Given the description of an element on the screen output the (x, y) to click on. 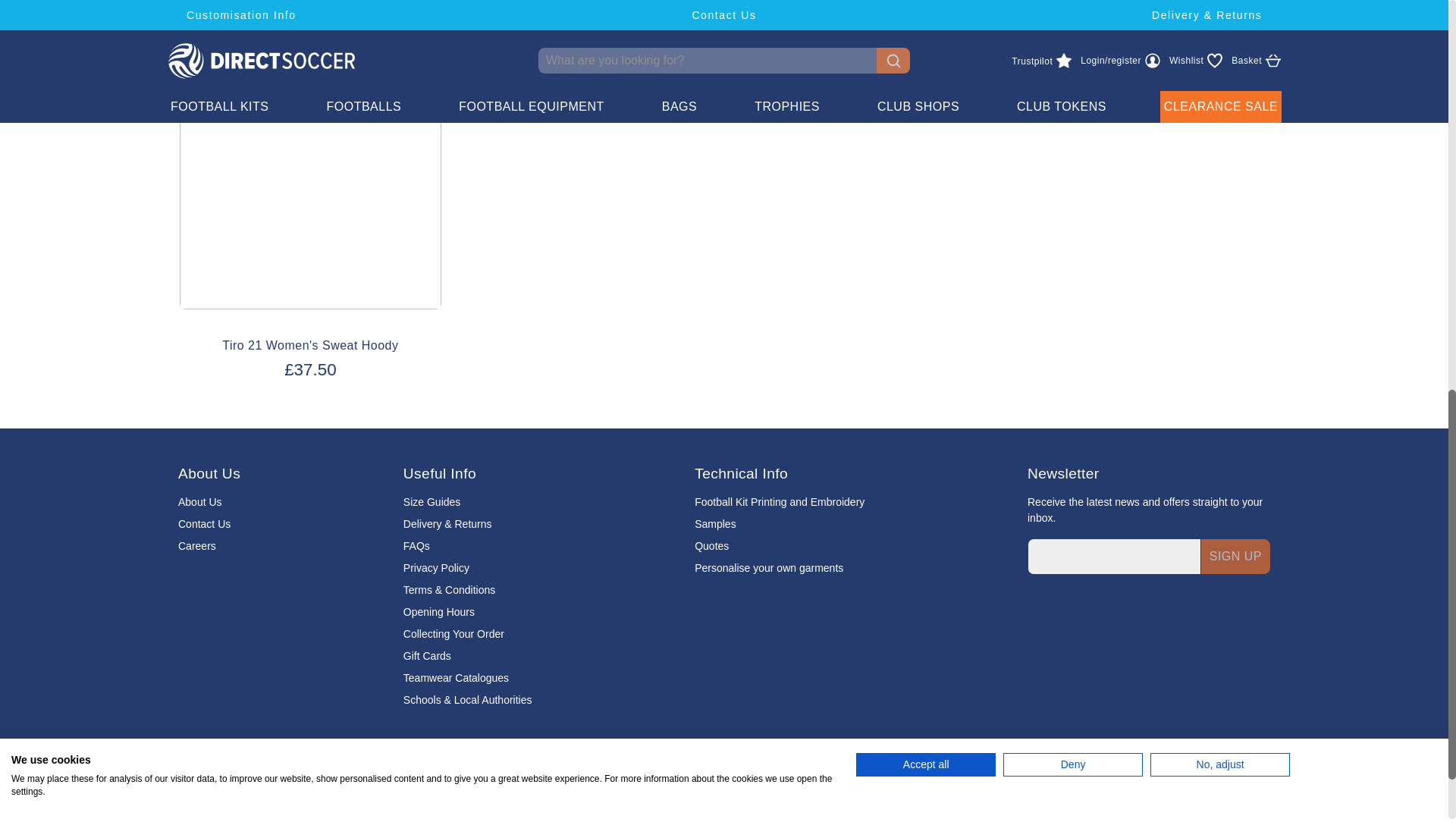
Customer reviews powered by Trustpilot (1224, 800)
